Given the description of an element on the screen output the (x, y) to click on. 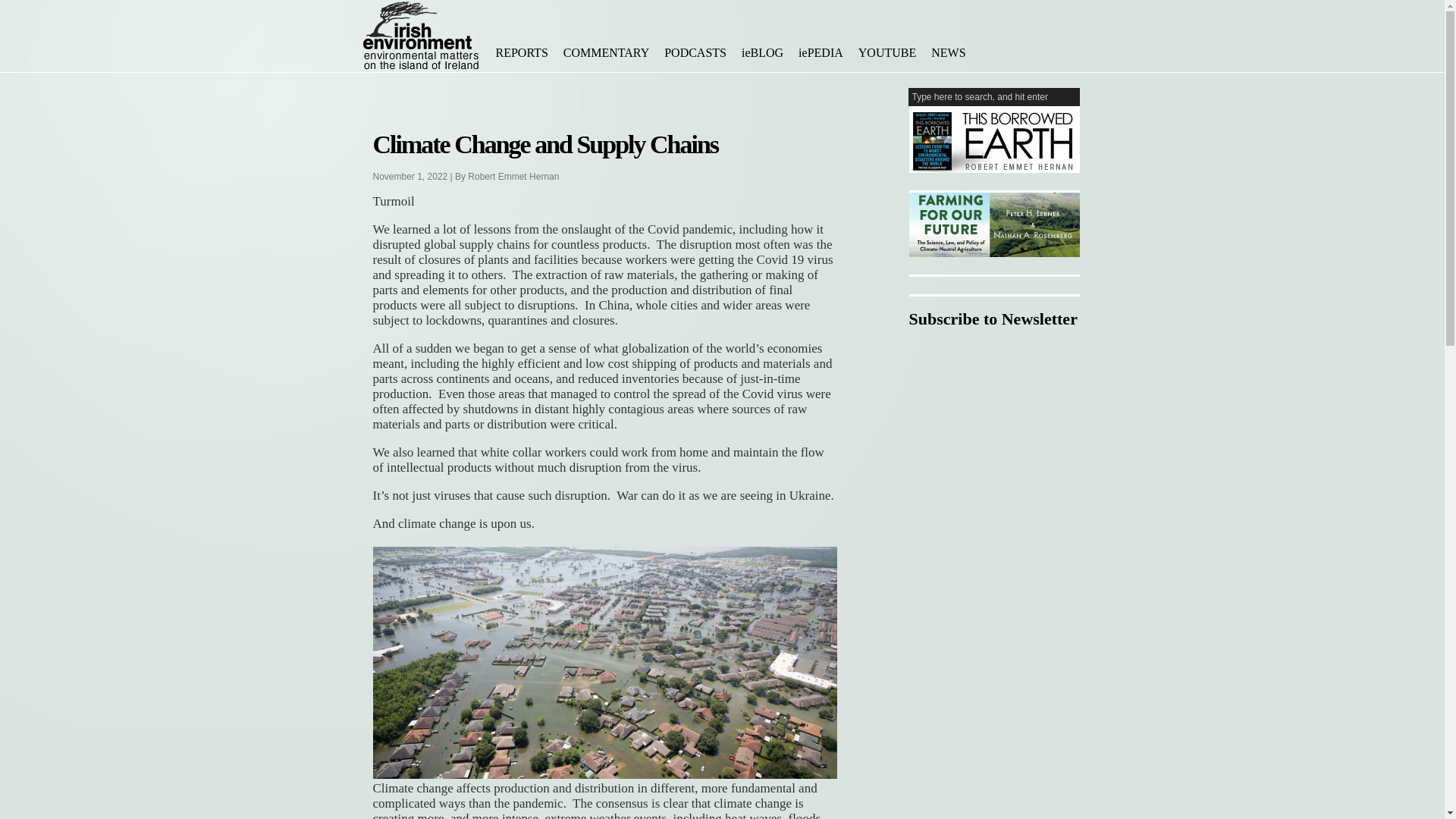
YOUTUBE (886, 53)
REPORTS (521, 53)
Subscribe to Newsletter (992, 319)
COMMENTARY (606, 53)
ieBLOG (761, 53)
REPORTS (521, 53)
YOUTUBE (886, 53)
PODCASTS (694, 53)
iePEDIA (820, 53)
PODCASTS (694, 53)
NEWS (947, 53)
This Borrowed Earth (993, 139)
Type here to search, and hit enter (996, 96)
COMMENTARY (606, 53)
NEWS (947, 53)
